Given the description of an element on the screen output the (x, y) to click on. 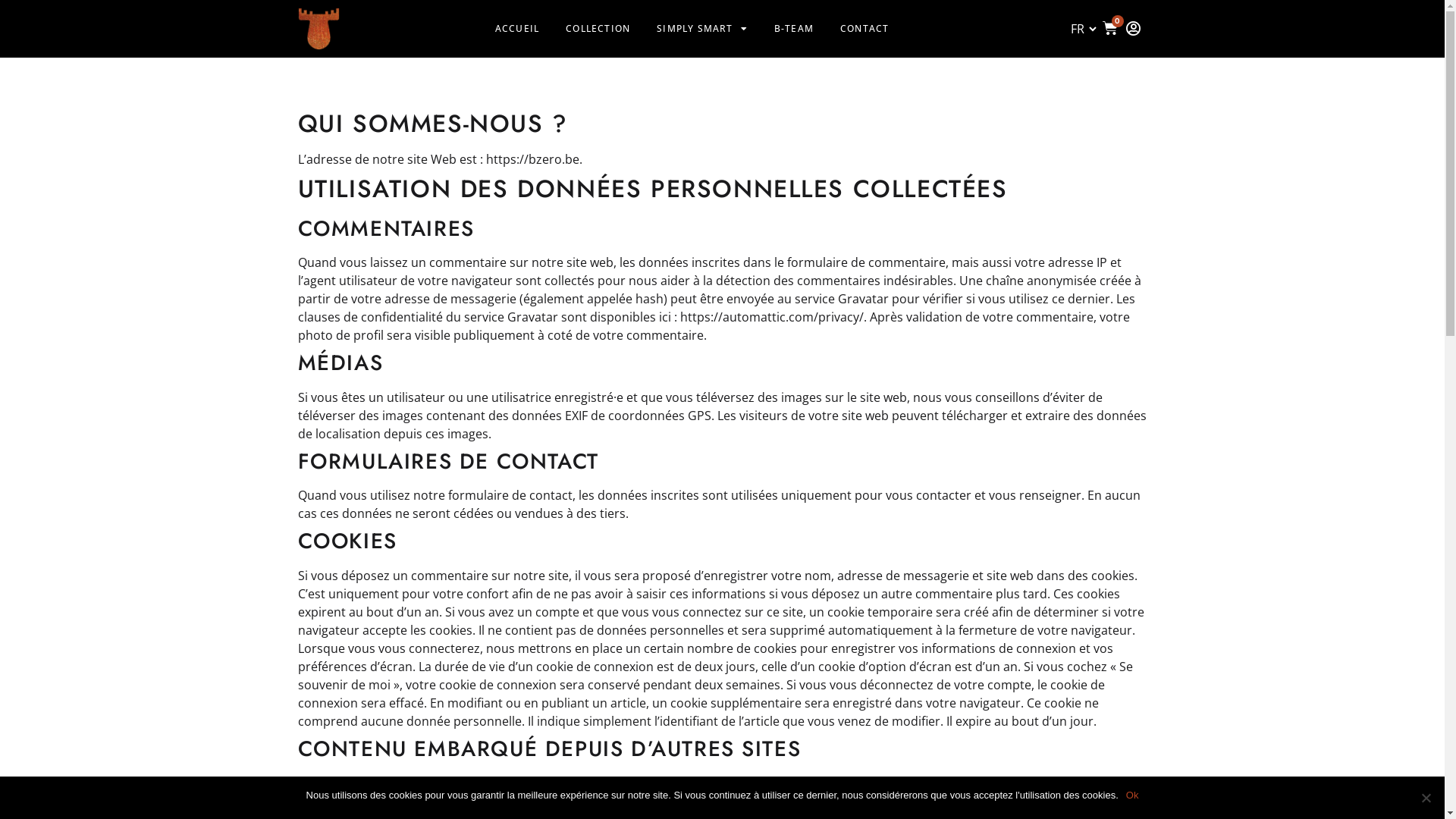
B-TEAM Element type: text (793, 28)
CONTACT Element type: text (864, 28)
Non Element type: hover (1425, 797)
ACCUEIL Element type: text (517, 28)
Ok Element type: text (1132, 795)
SIMPLY SMART Element type: text (701, 28)
COLLECTION Element type: text (597, 28)
